Given the description of an element on the screen output the (x, y) to click on. 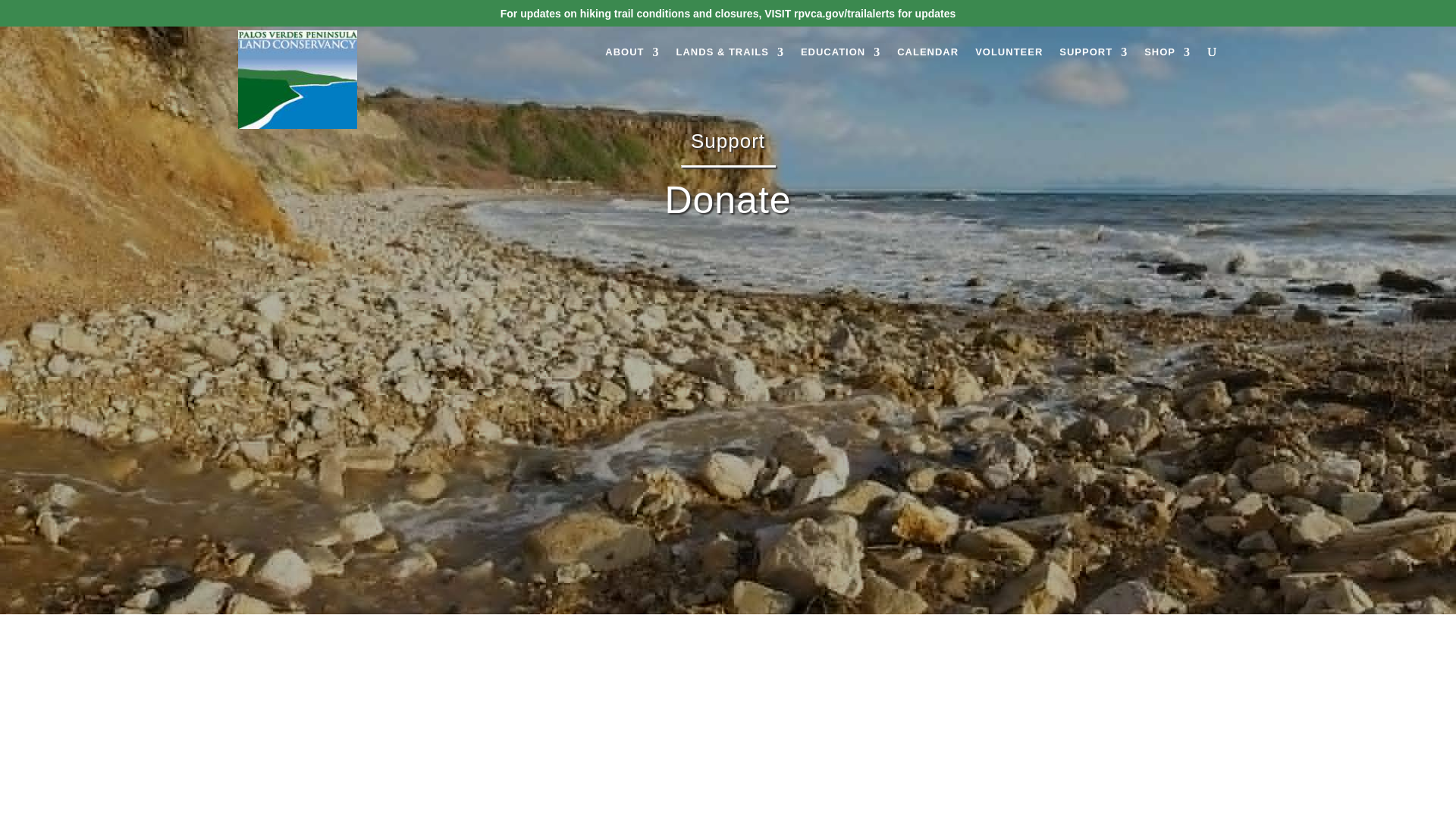
EDUCATION (840, 61)
VOLUNTEER (1008, 61)
ABOUT (632, 61)
CALENDAR (927, 61)
SHOP (1167, 61)
SUPPORT (1092, 61)
